Given the description of an element on the screen output the (x, y) to click on. 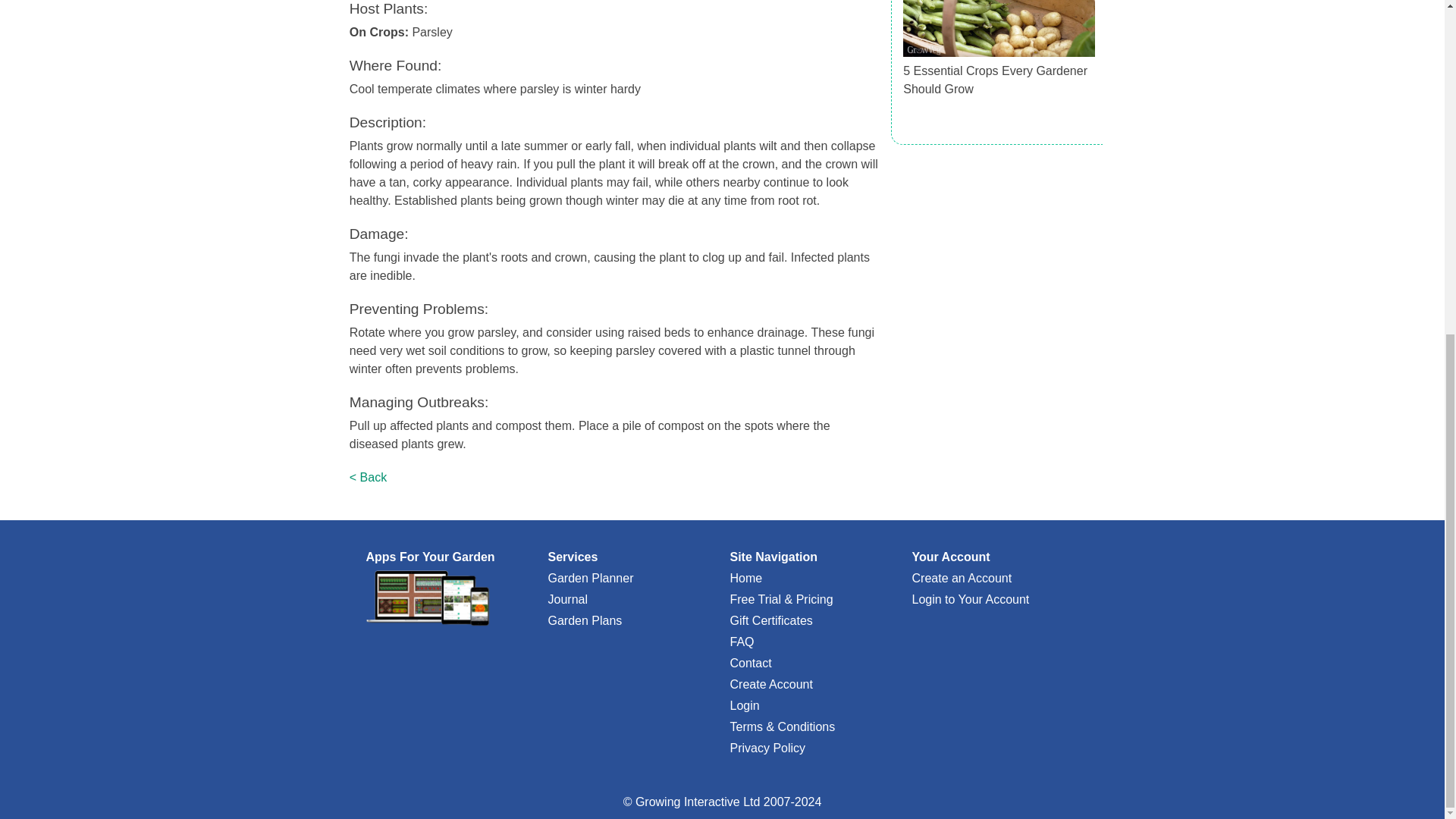
FAQ (741, 641)
Gift Certificates (770, 620)
Garden Planner (590, 578)
Create Account (770, 684)
5 Essential Crops Every Gardener Should Grow (994, 79)
Garden Plans (584, 620)
Home (745, 578)
Journal (566, 599)
Contact (750, 663)
